Given the description of an element on the screen output the (x, y) to click on. 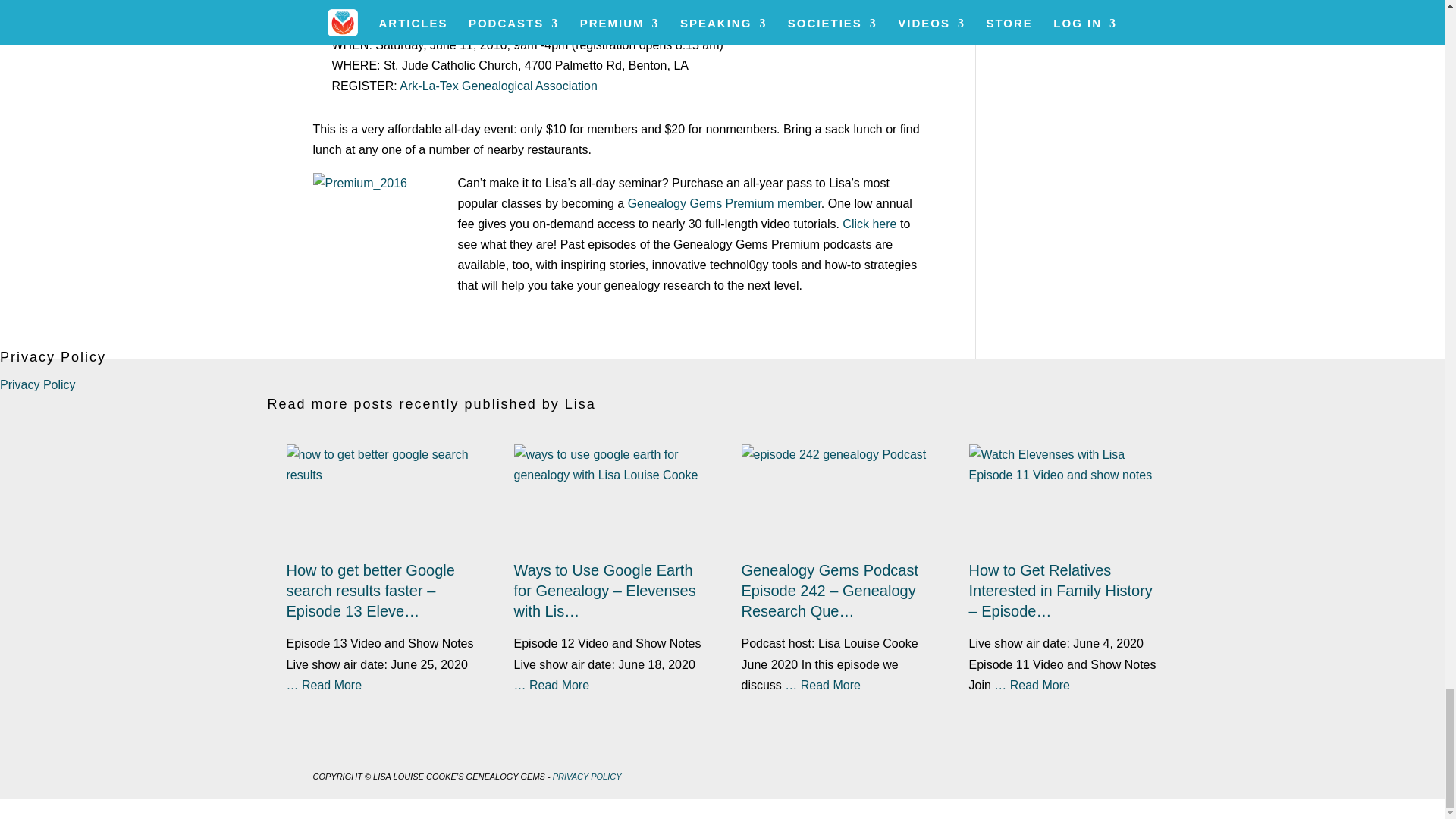
Privacy Policy (37, 384)
